Given the description of an element on the screen output the (x, y) to click on. 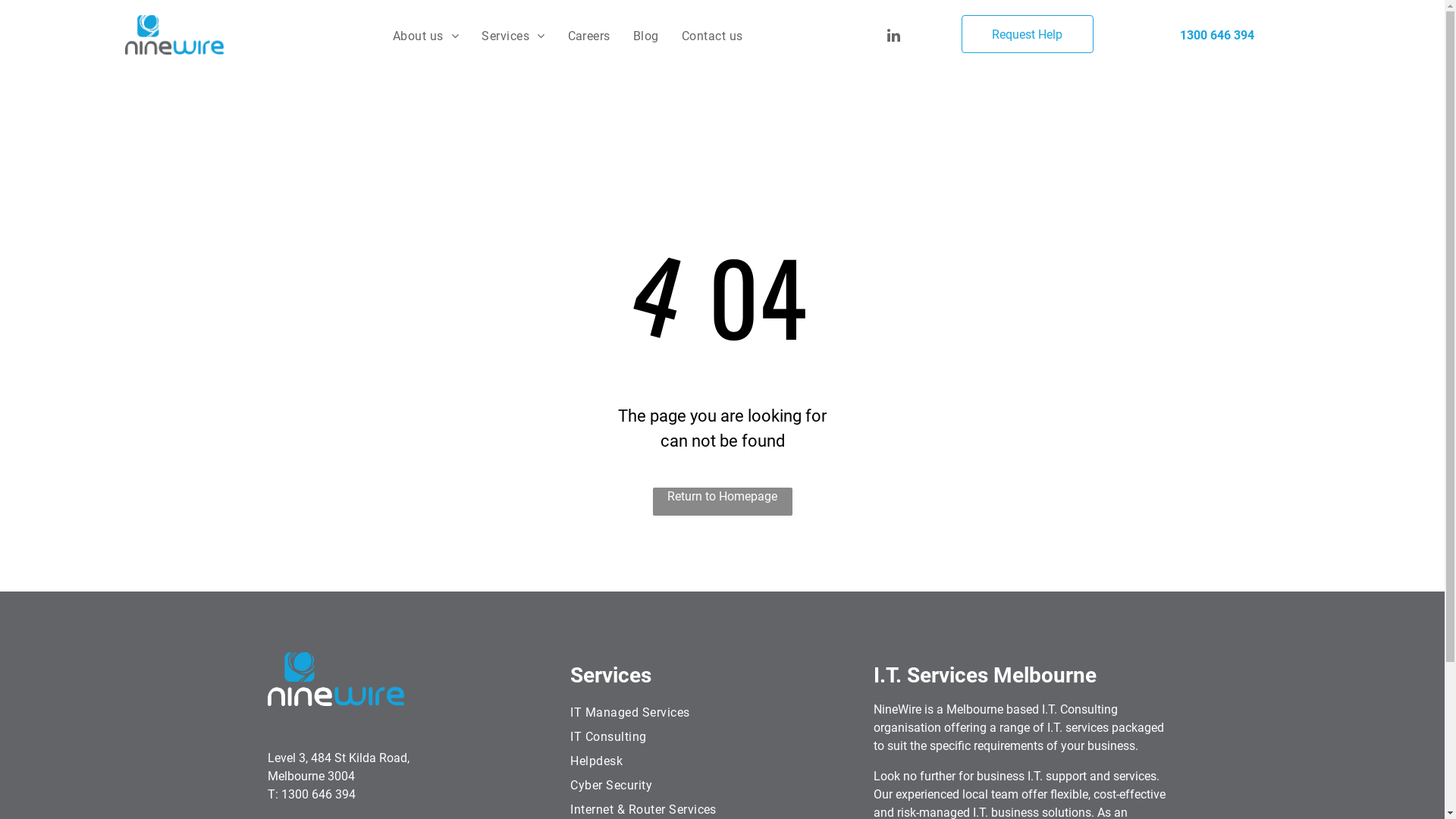
About us Element type: text (425, 36)
Helpdesk Element type: text (716, 761)
Contact us Element type: text (712, 36)
Blog Element type: text (645, 36)
Cyber Security Element type: text (716, 785)
Careers Element type: text (588, 36)
IT Managed Services Element type: text (716, 712)
Return to Homepage Element type: text (721, 501)
IT Consulting Element type: text (716, 736)
1300 646 394 Element type: text (1216, 35)
Services Element type: text (512, 36)
Request Help Element type: text (1027, 34)
